Given the description of an element on the screen output the (x, y) to click on. 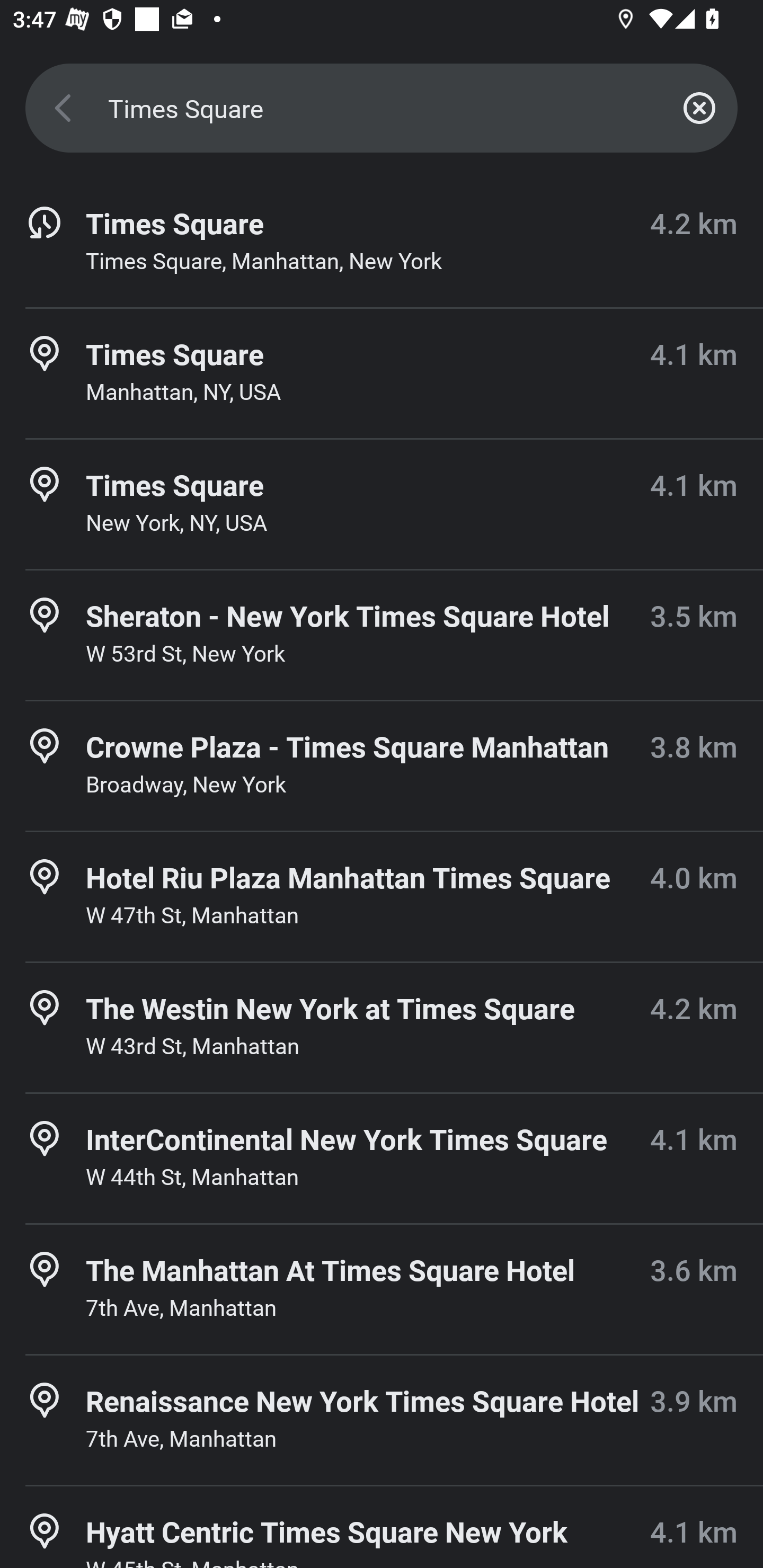
Times Square SEARCH_SCREEN_SEARCH_FIELD (381, 108)
Times Square 4.1 km Manhattan, NY, USA (381, 372)
Times Square 4.1 km New York, NY, USA (381, 504)
